Given the description of an element on the screen output the (x, y) to click on. 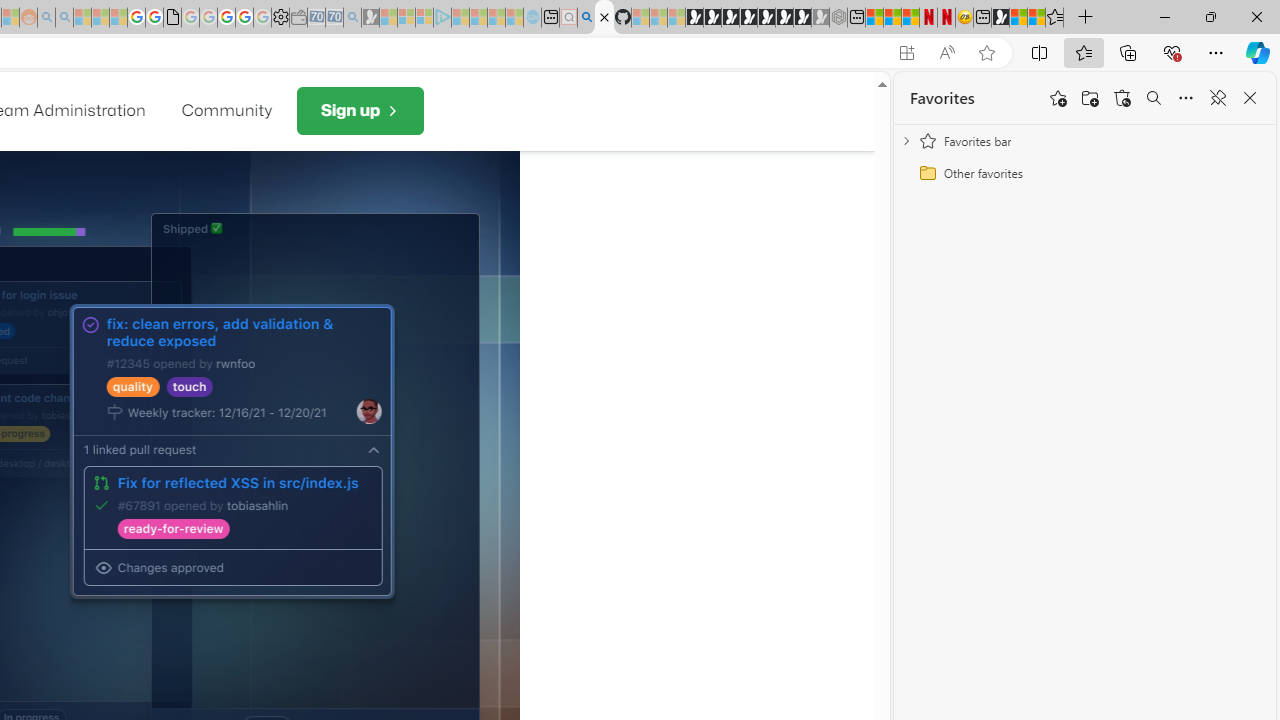
Microsoft Start - Sleeping (496, 17)
Add this page to favorites (1058, 98)
Wildlife - MSN (1017, 17)
Settings (280, 17)
Copilot (Ctrl+Shift+.) (1258, 52)
Play Cave FRVR in your browser | Games from Microsoft Start (729, 17)
Cheap Car Rentals - Save70.com - Sleeping (334, 17)
google_privacy_policy_zh-CN.pdf (171, 17)
Track what you deliver down to the commit. (232, 451)
Close tab (604, 16)
